Given the description of an element on the screen output the (x, y) to click on. 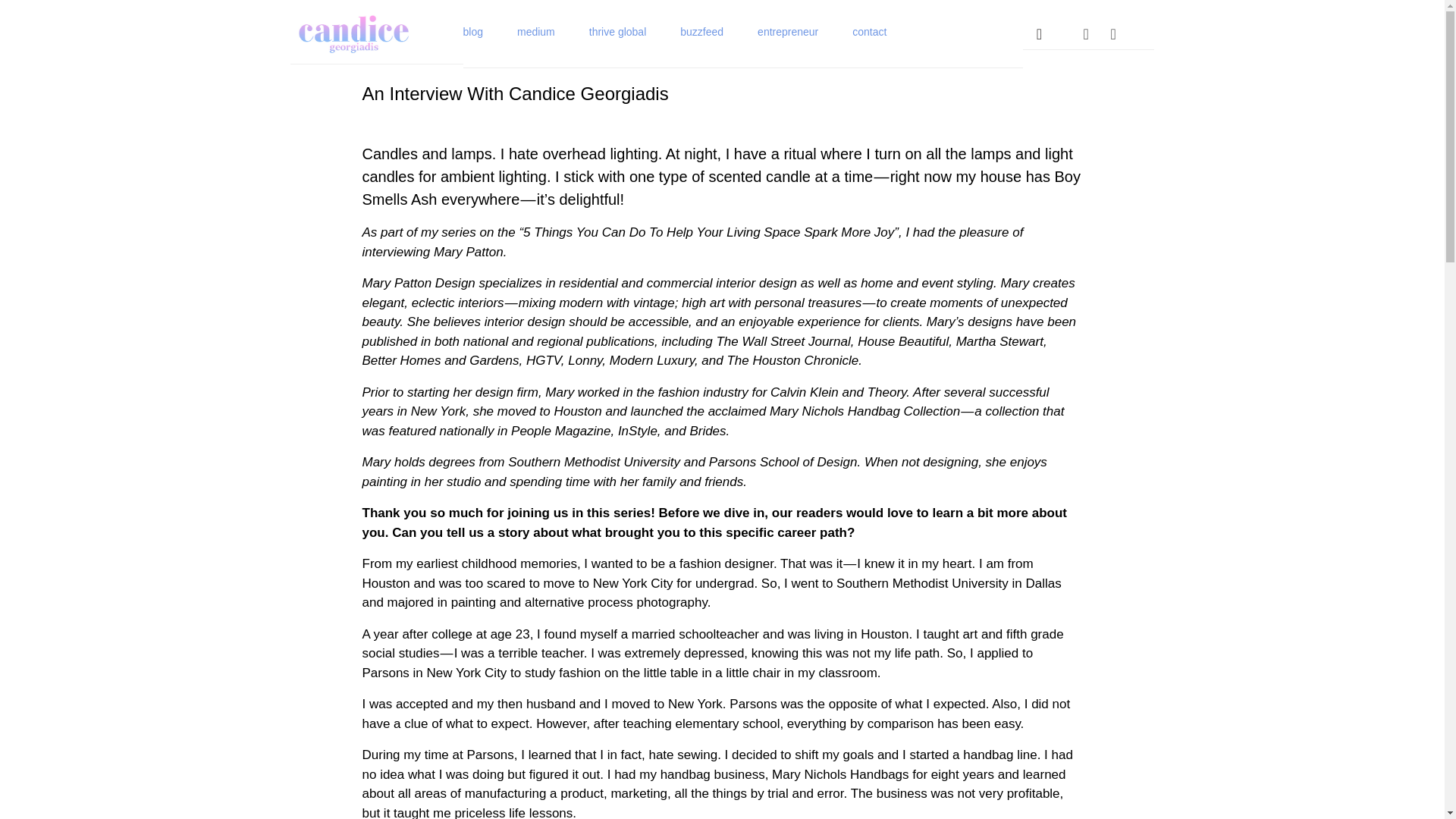
contact (868, 33)
medium (535, 33)
thrive global (617, 33)
buzzfeed (701, 33)
entrepreneur (787, 33)
blog (472, 33)
